Given the description of an element on the screen output the (x, y) to click on. 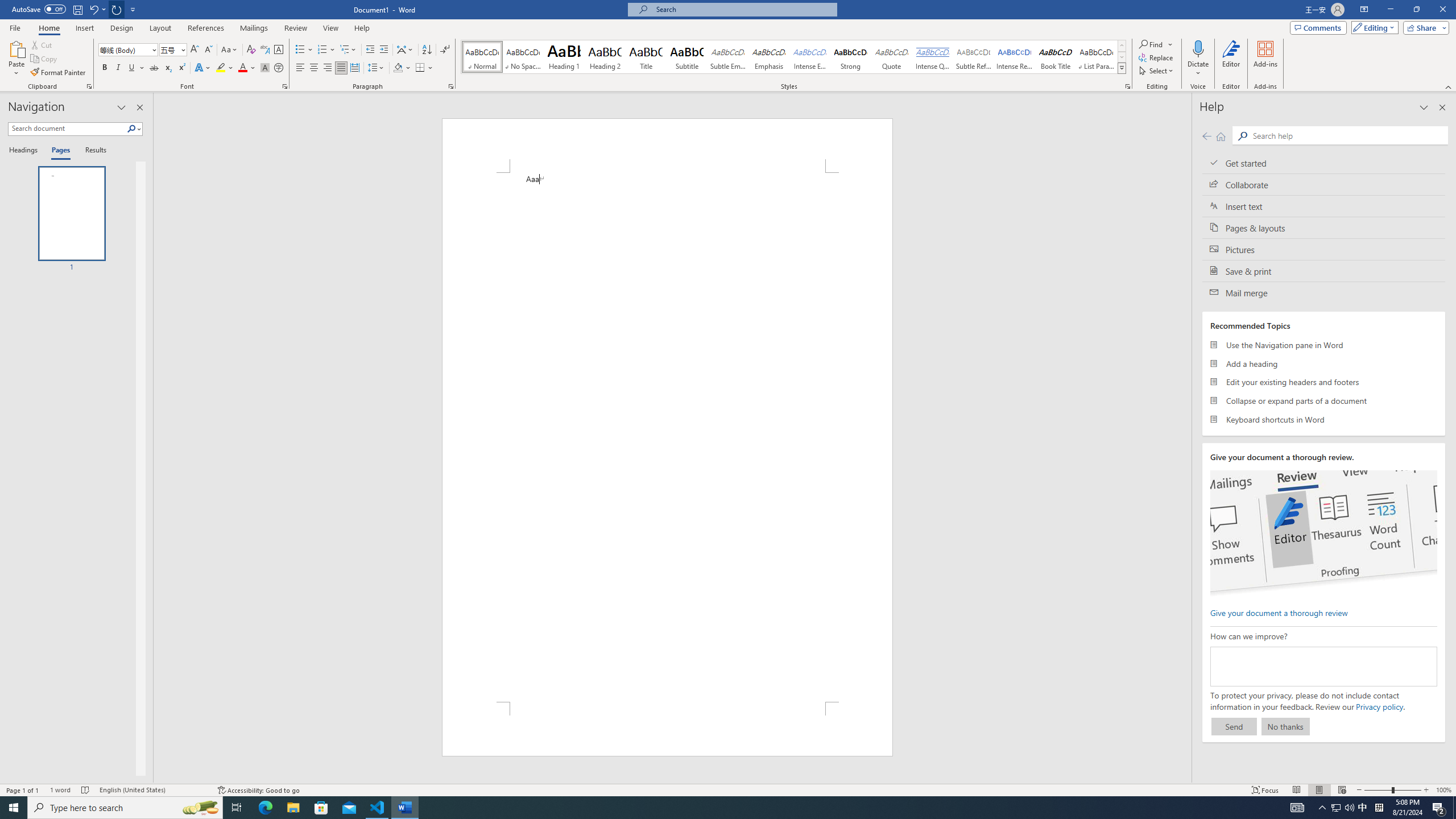
Undo Apply Quick Style (92, 9)
Emphasis (768, 56)
Give your document a thorough review (1278, 611)
Previous page (1206, 136)
